Given the description of an element on the screen output the (x, y) to click on. 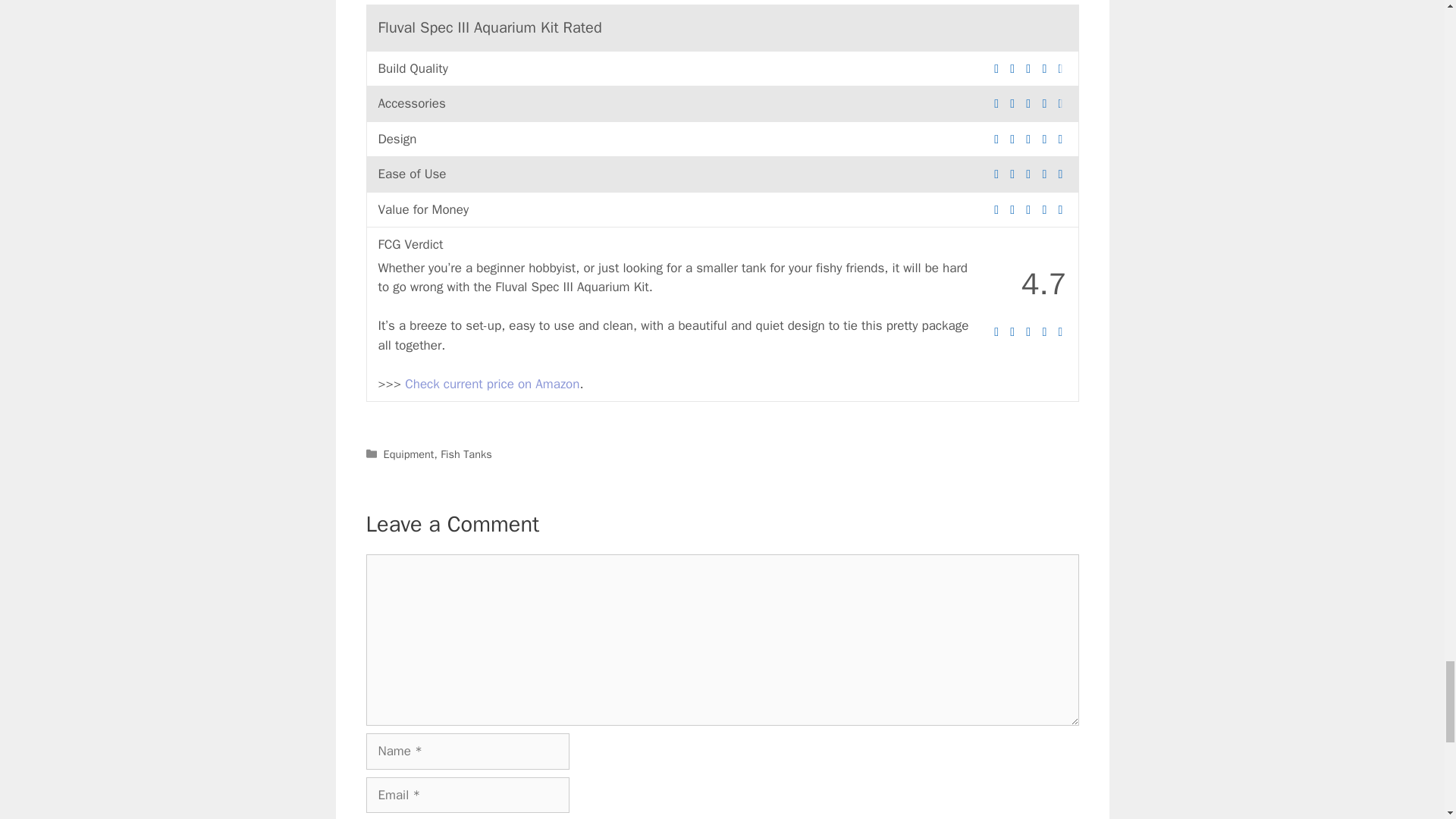
Equipment (408, 454)
Check current price on Amazon (491, 383)
Fish Tanks (466, 454)
